Given the description of an element on the screen output the (x, y) to click on. 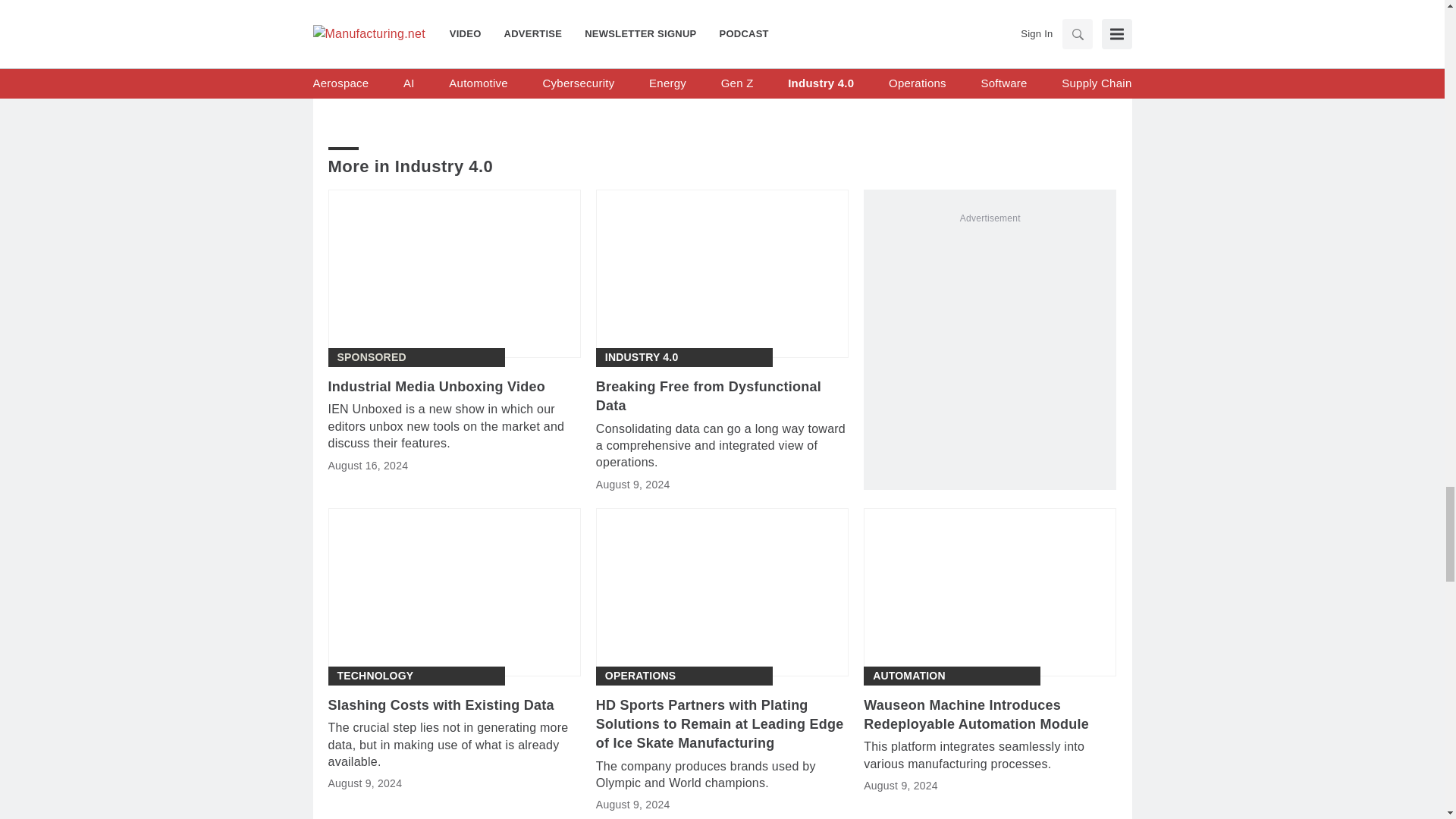
Industry 4.0 (641, 357)
Technology (374, 675)
Sponsored (371, 357)
